Given the description of an element on the screen output the (x, y) to click on. 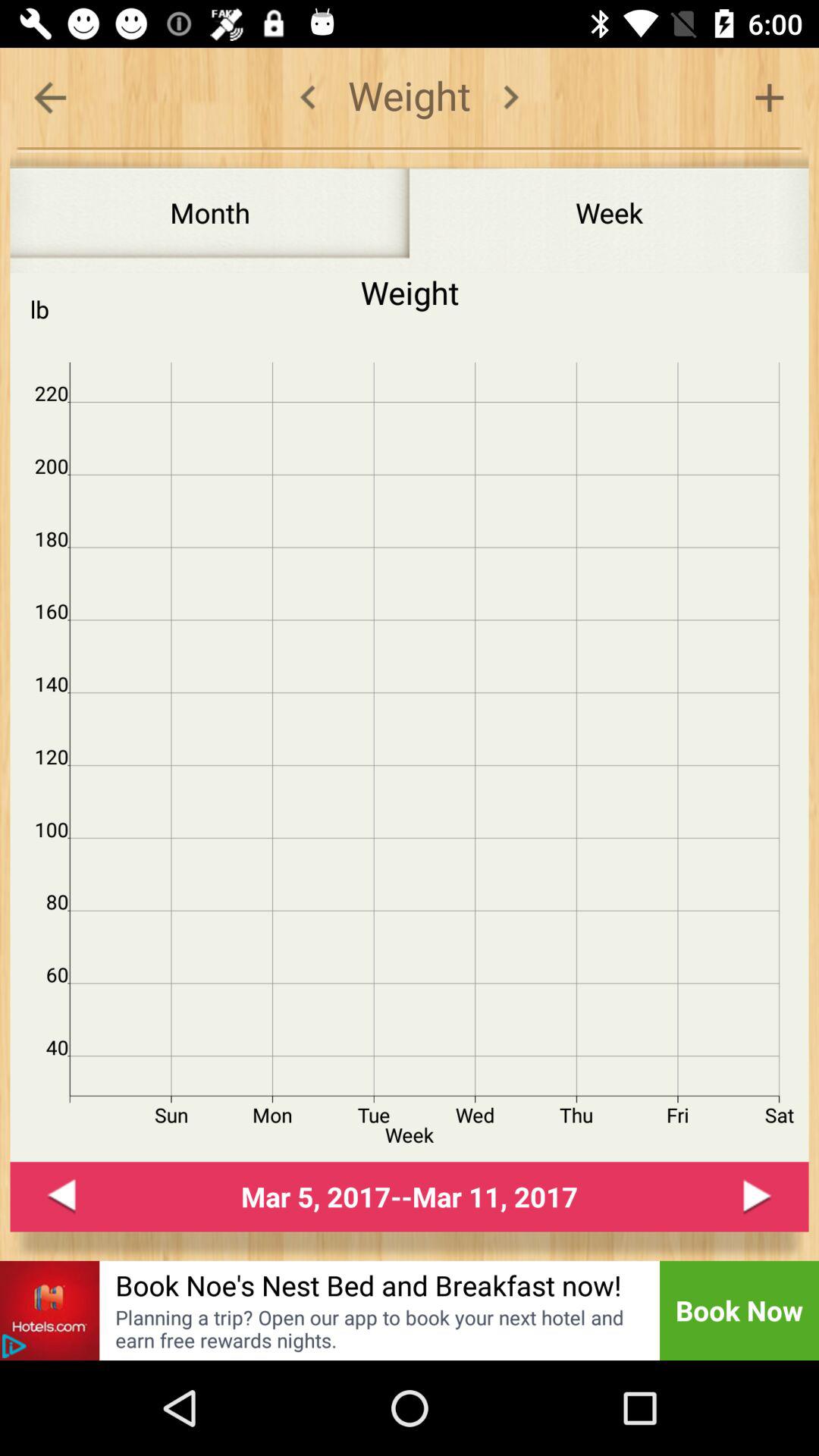
go back add (14, 1346)
